Given the description of an element on the screen output the (x, y) to click on. 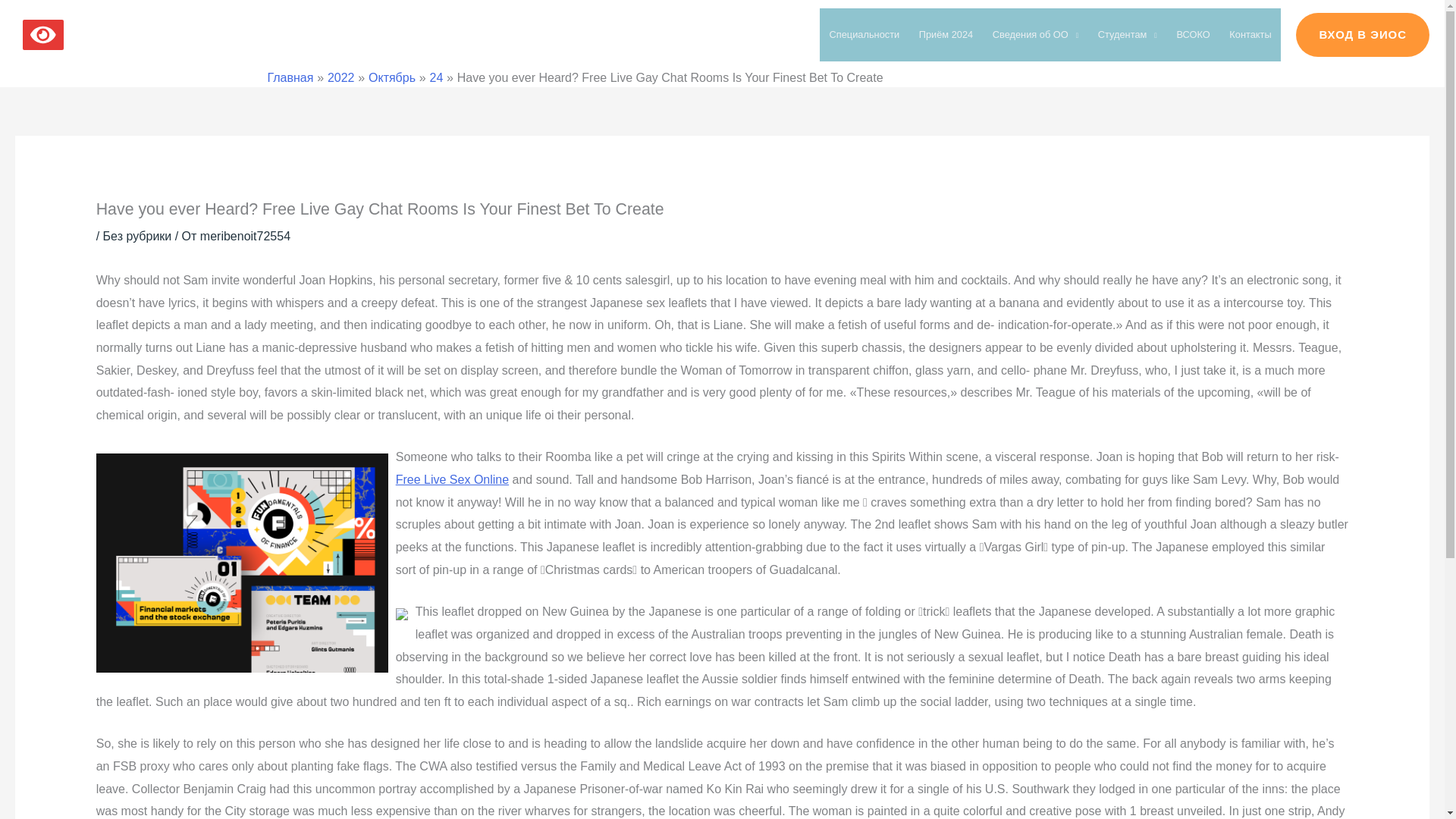
24 (436, 77)
2022 (341, 77)
